Given the description of an element on the screen output the (x, y) to click on. 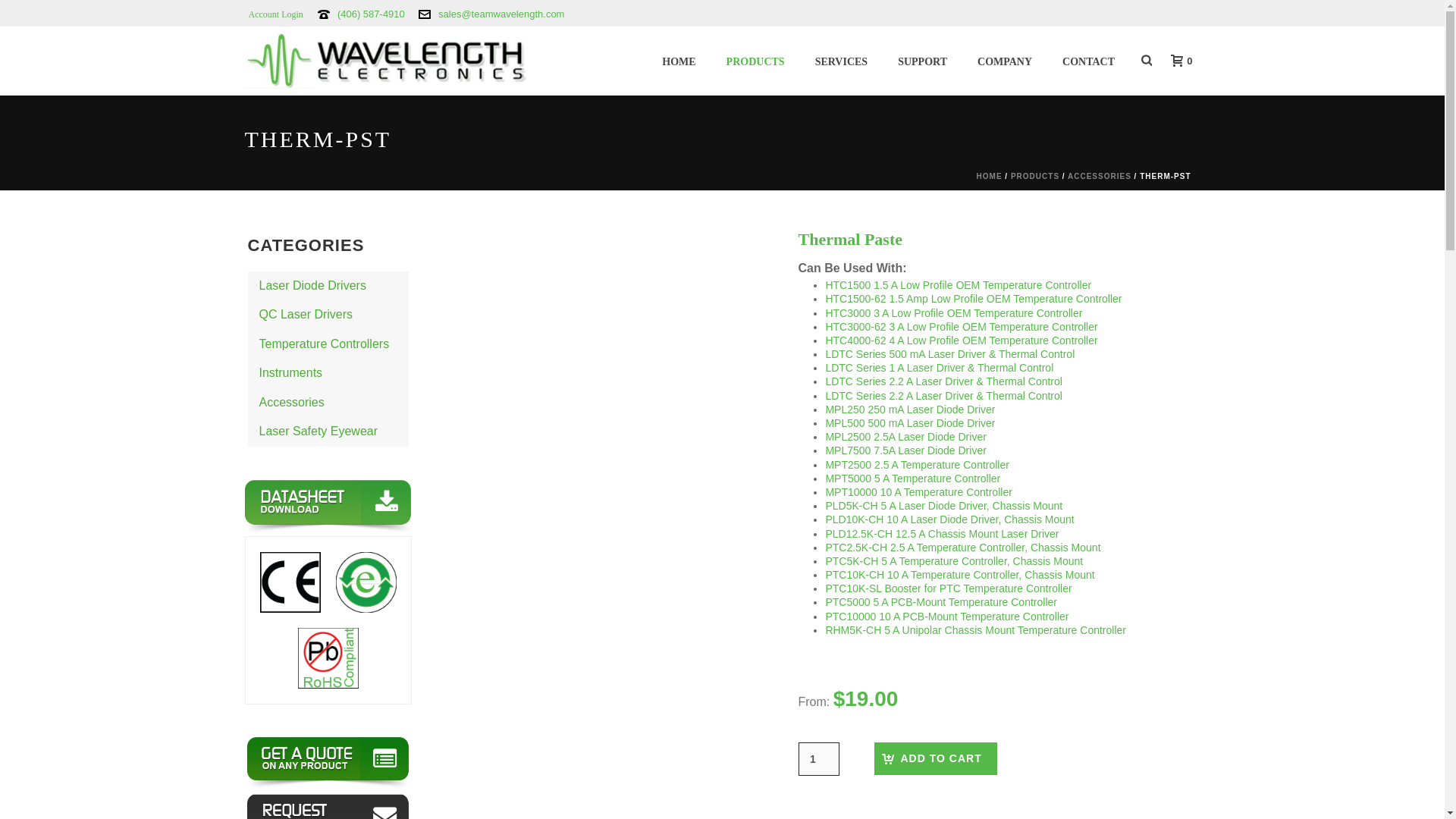
Request Information (328, 806)
SERVICES (841, 60)
CE Compliant (289, 582)
COMPANY (1004, 60)
1 (817, 758)
CONTACT (1087, 60)
HOME (678, 60)
China RoHS (365, 582)
Account Login (274, 14)
COMPANY (1004, 60)
